Given the description of an element on the screen output the (x, y) to click on. 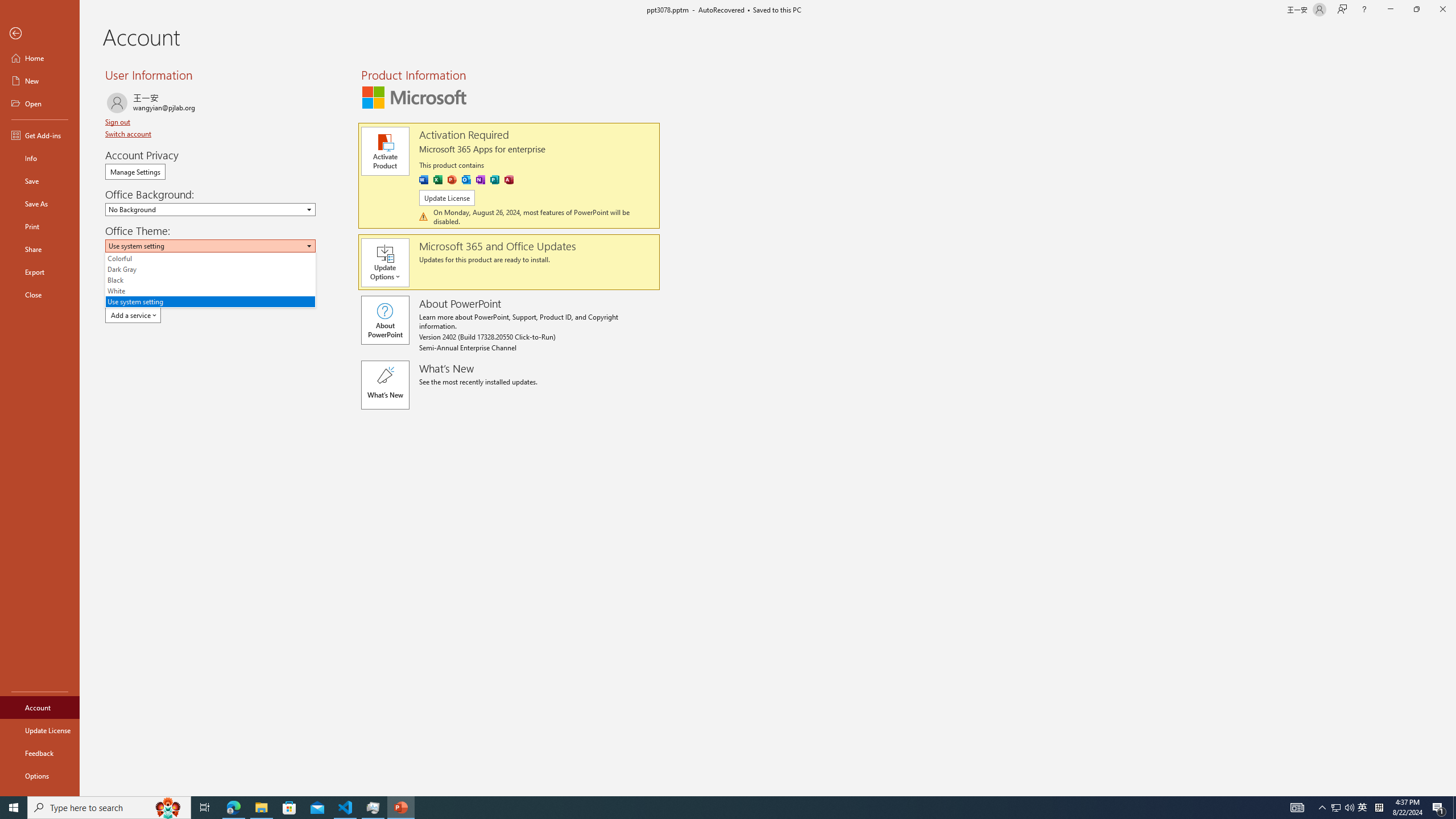
AutomationID: 4105 (1297, 807)
Account (1362, 807)
Task Manager - 1 running window (40, 707)
OneNote (373, 807)
PowerPoint - 1 running window (480, 179)
Running applications (400, 807)
Microsoft Store (707, 807)
Feedback (289, 807)
Info (40, 753)
Visual Studio Code - 1 running window (40, 157)
Action Center, 1 new notification (345, 807)
